Given the description of an element on the screen output the (x, y) to click on. 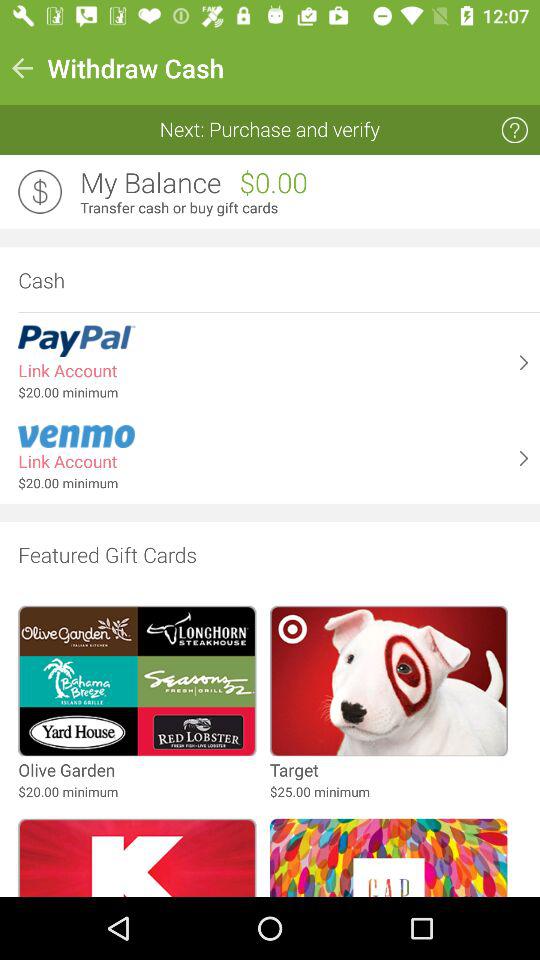
tap the icon above transfer cash or (150, 183)
